Given the description of an element on the screen output the (x, y) to click on. 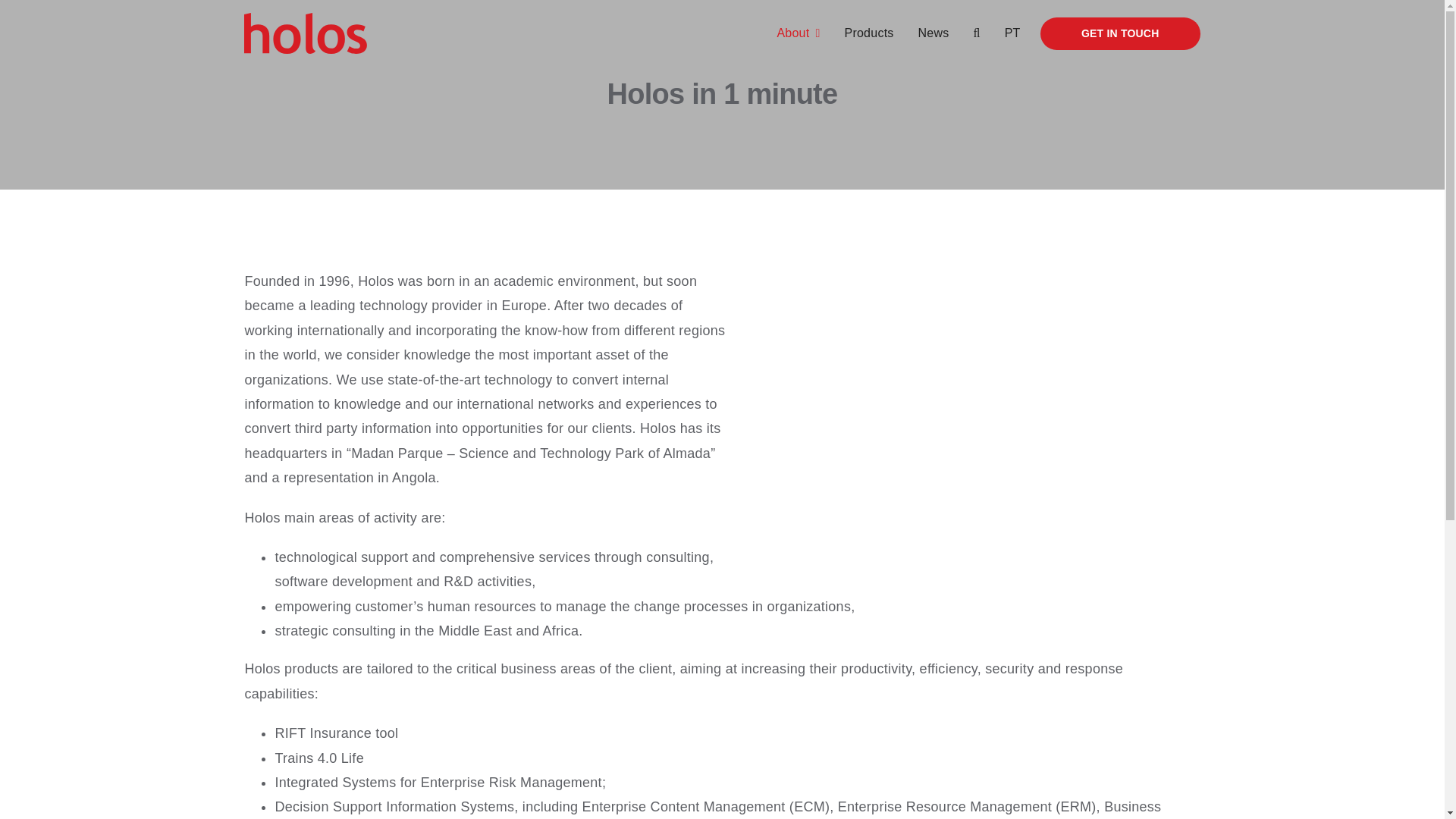
Products (868, 33)
About (797, 33)
GET IN TOUCH (1120, 32)
News (933, 33)
